Given the description of an element on the screen output the (x, y) to click on. 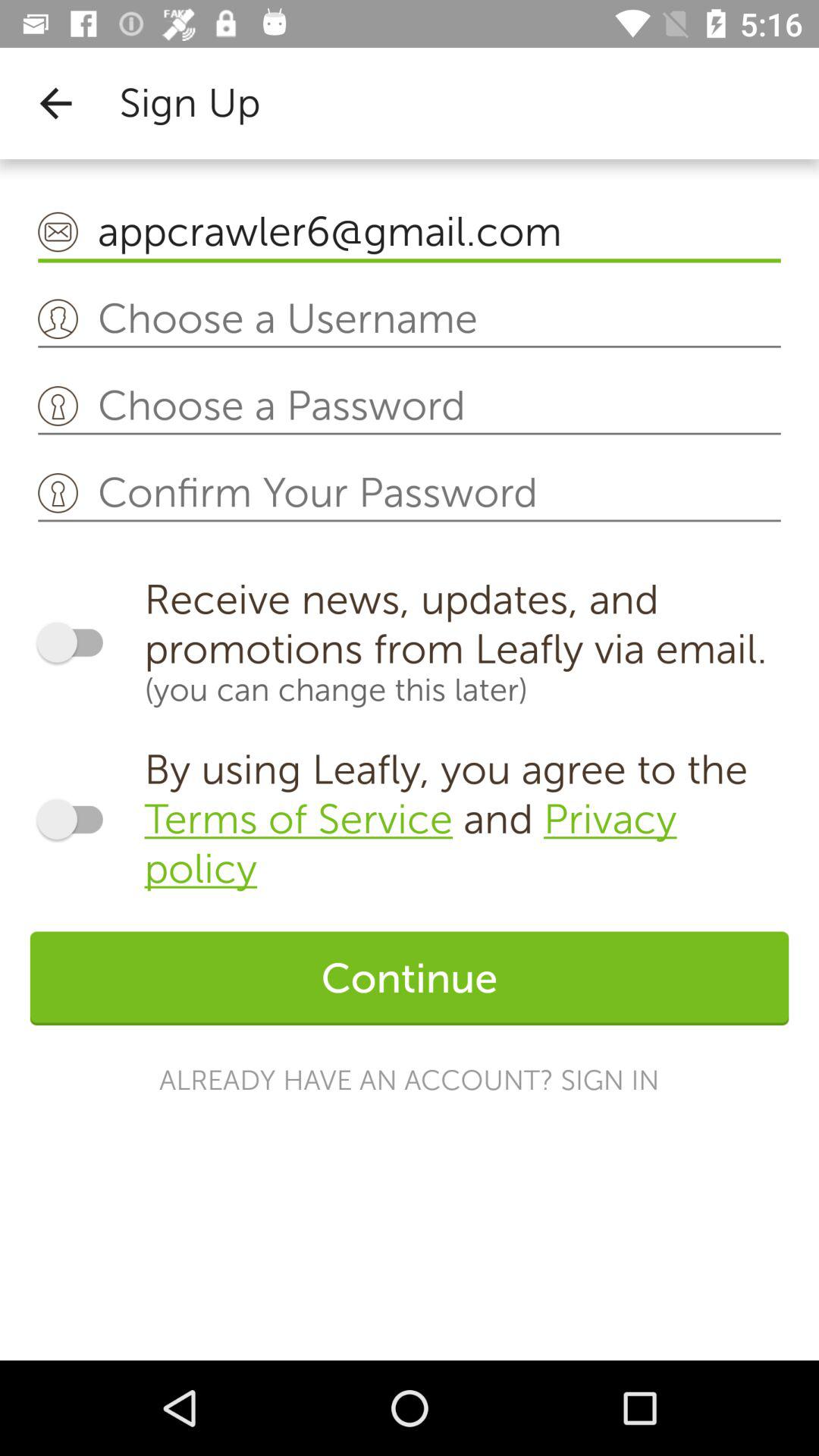
turn off by using leafly (466, 819)
